Given the description of an element on the screen output the (x, y) to click on. 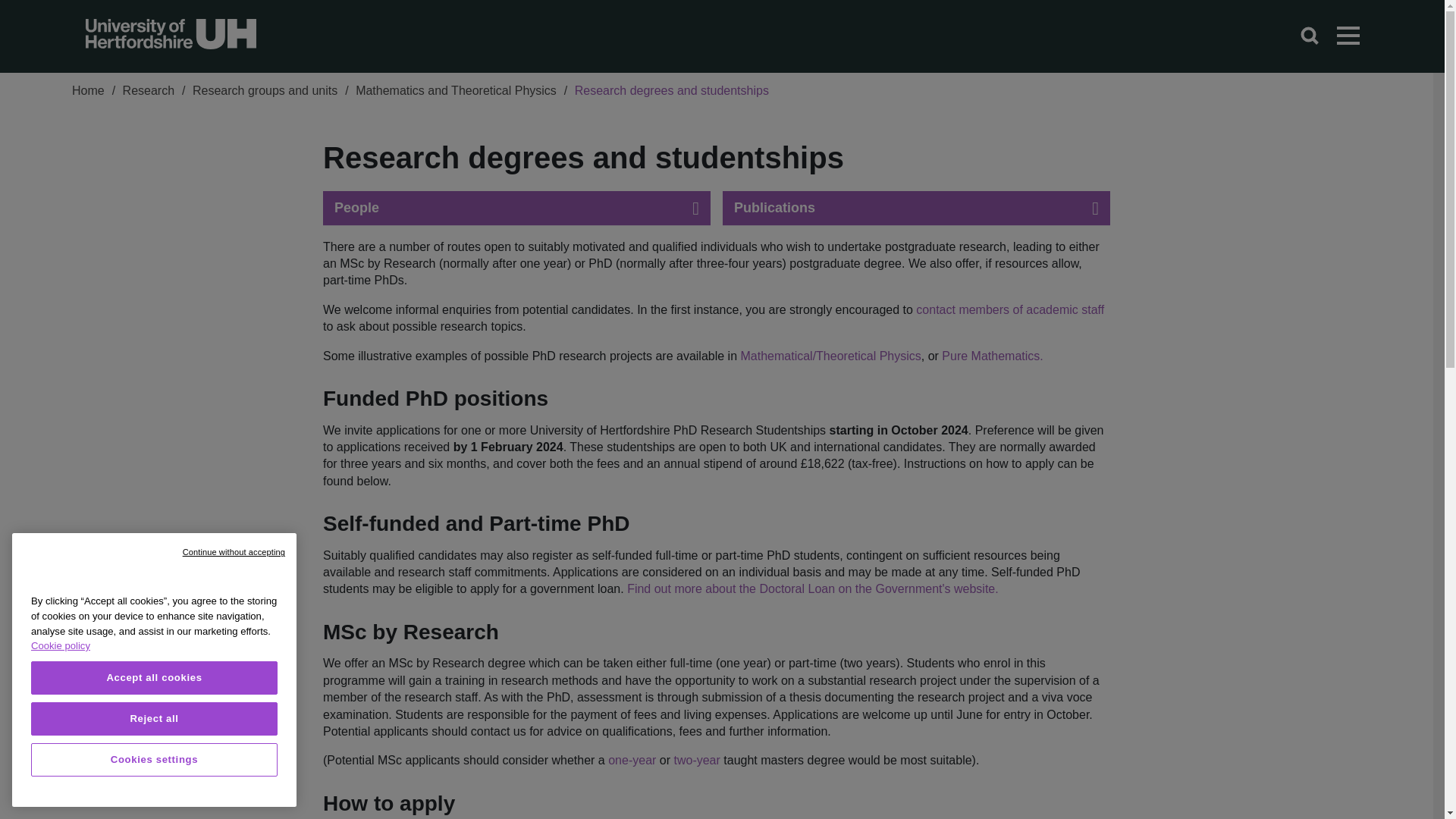
Research groups and units (264, 92)
MSc Theoretical Physics with Advanced Research (695, 759)
contact members of academic staff (1009, 309)
People (516, 208)
Research (148, 92)
Home (87, 92)
search (1308, 36)
Publications (915, 208)
Pure Mathematics. (992, 355)
Mathematics and Theoretical Physics (455, 92)
